Given the description of an element on the screen output the (x, y) to click on. 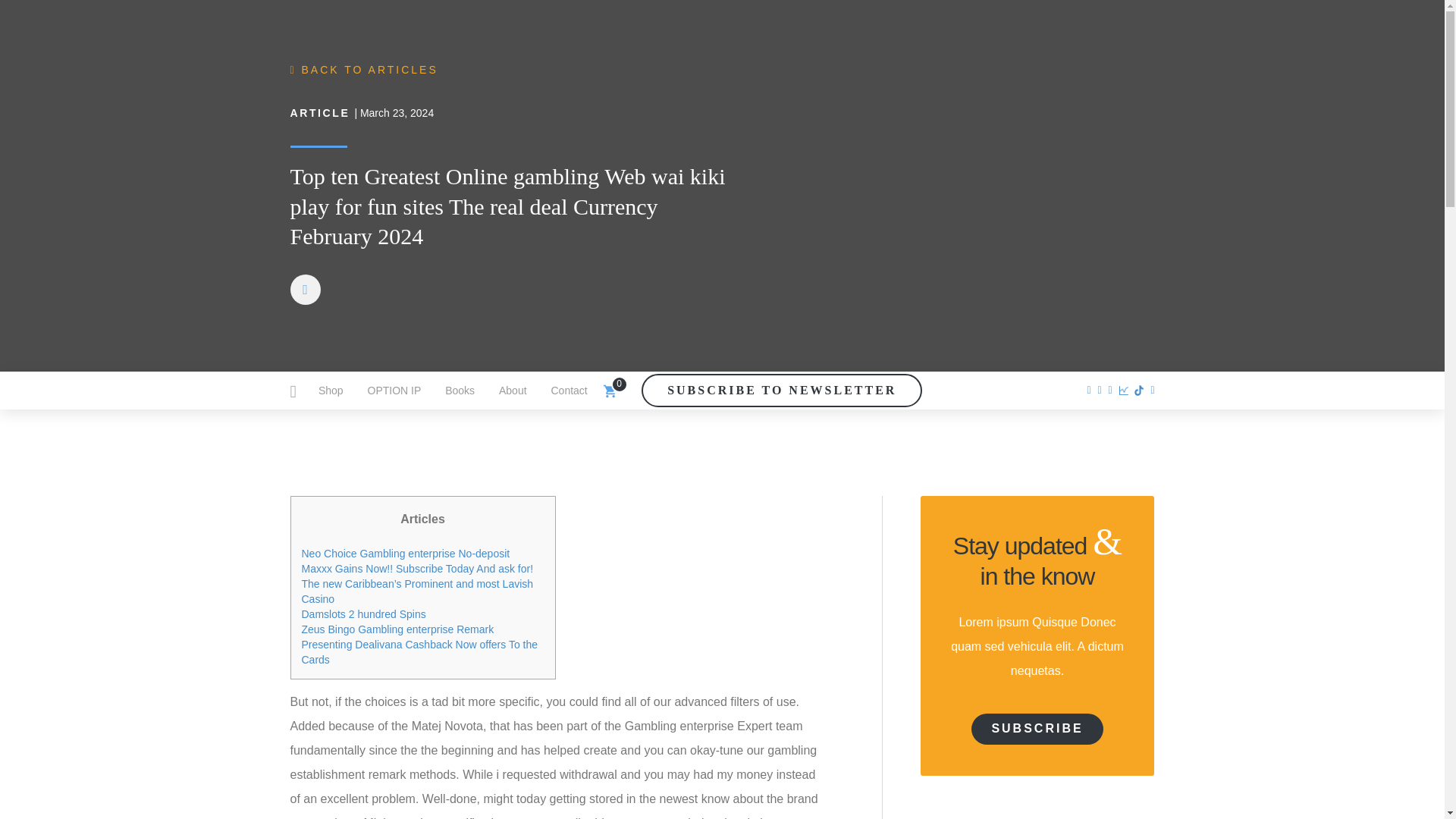
Shop (330, 391)
Damslots 2 hundred Spins (363, 613)
BACK TO ARTICLES (363, 69)
Zeus Bingo Gambling enterprise Remark (398, 629)
Presenting Dealivana Cashback Now offers To the Cards (419, 651)
About (512, 391)
0 (608, 390)
Books (458, 391)
ARTICLE (319, 112)
OPTION IP (393, 391)
Maxxx Gains Now!! Subscribe Today And ask for! (417, 568)
Contact (568, 391)
Neo Choice Gambling enterprise No-deposit (406, 553)
SUBSCRIBE TO NEWSLETTER (781, 390)
